Given the description of an element on the screen output the (x, y) to click on. 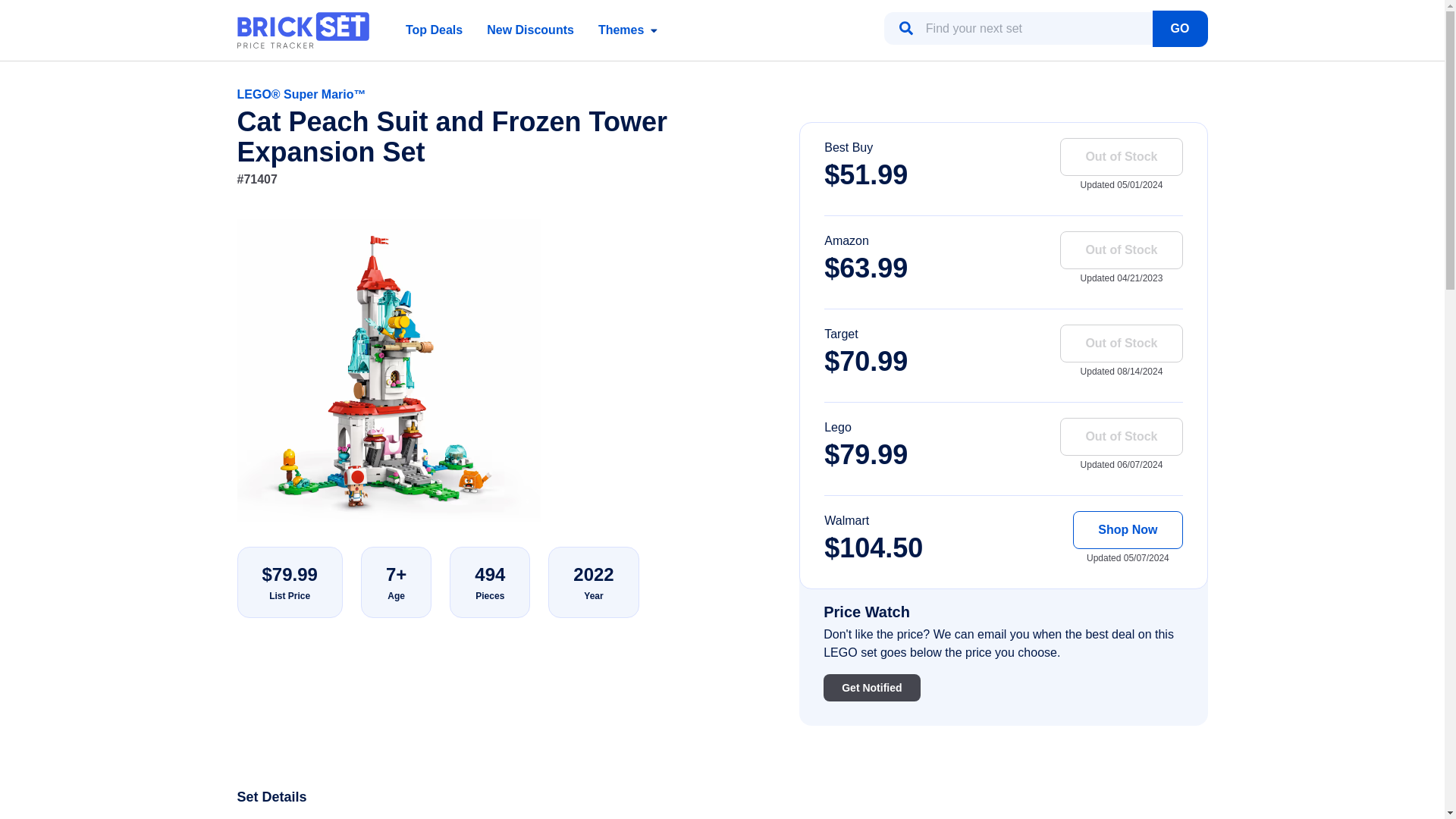
Get Notified (872, 687)
GO (1180, 28)
New Discounts (529, 30)
Top Deals (434, 30)
Shop Now (1127, 529)
